Given the description of an element on the screen output the (x, y) to click on. 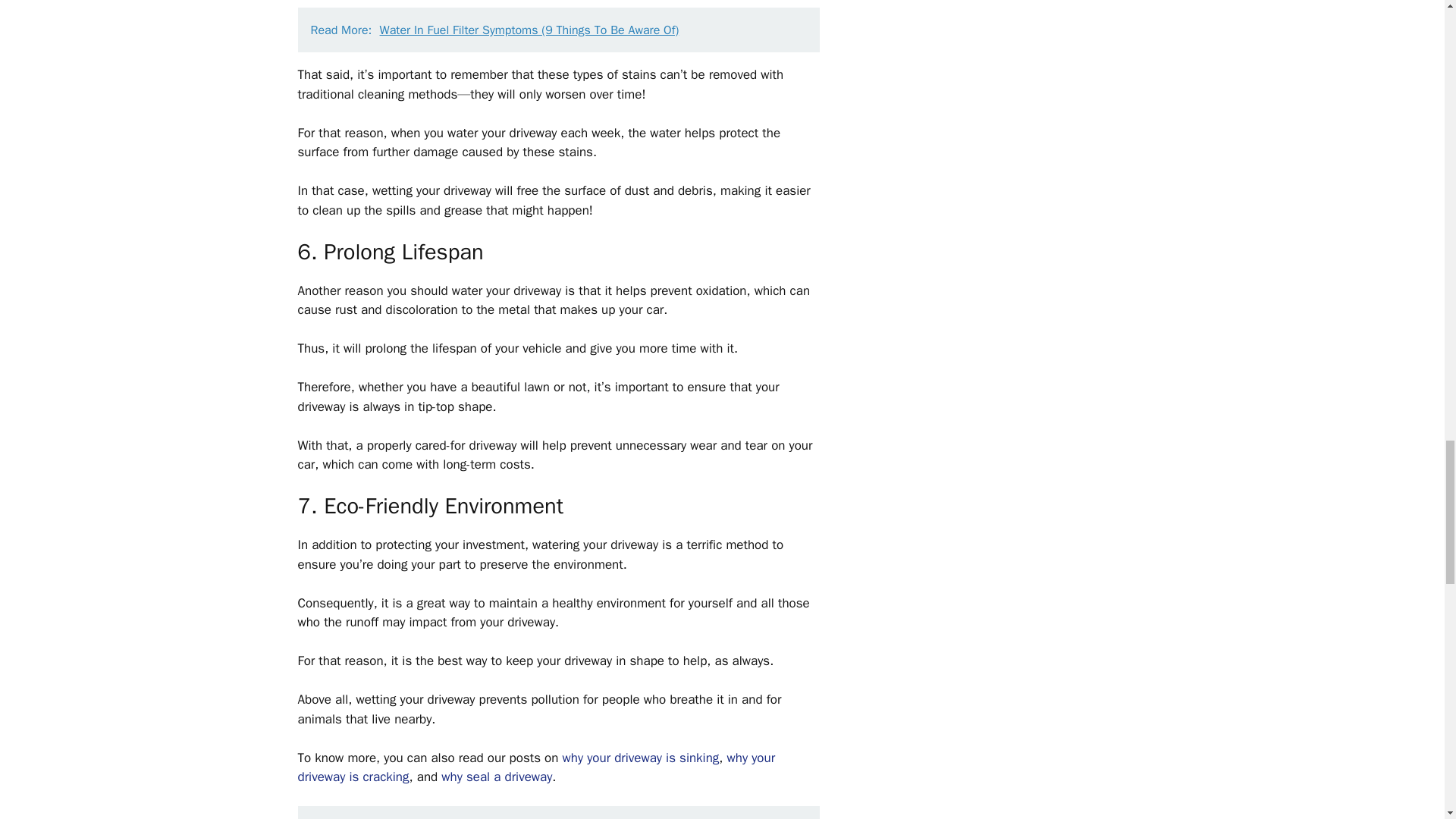
why seal a driveway (496, 776)
why your driveway is cracking (535, 767)
why your driveway is sinking (640, 757)
